Given the description of an element on the screen output the (x, y) to click on. 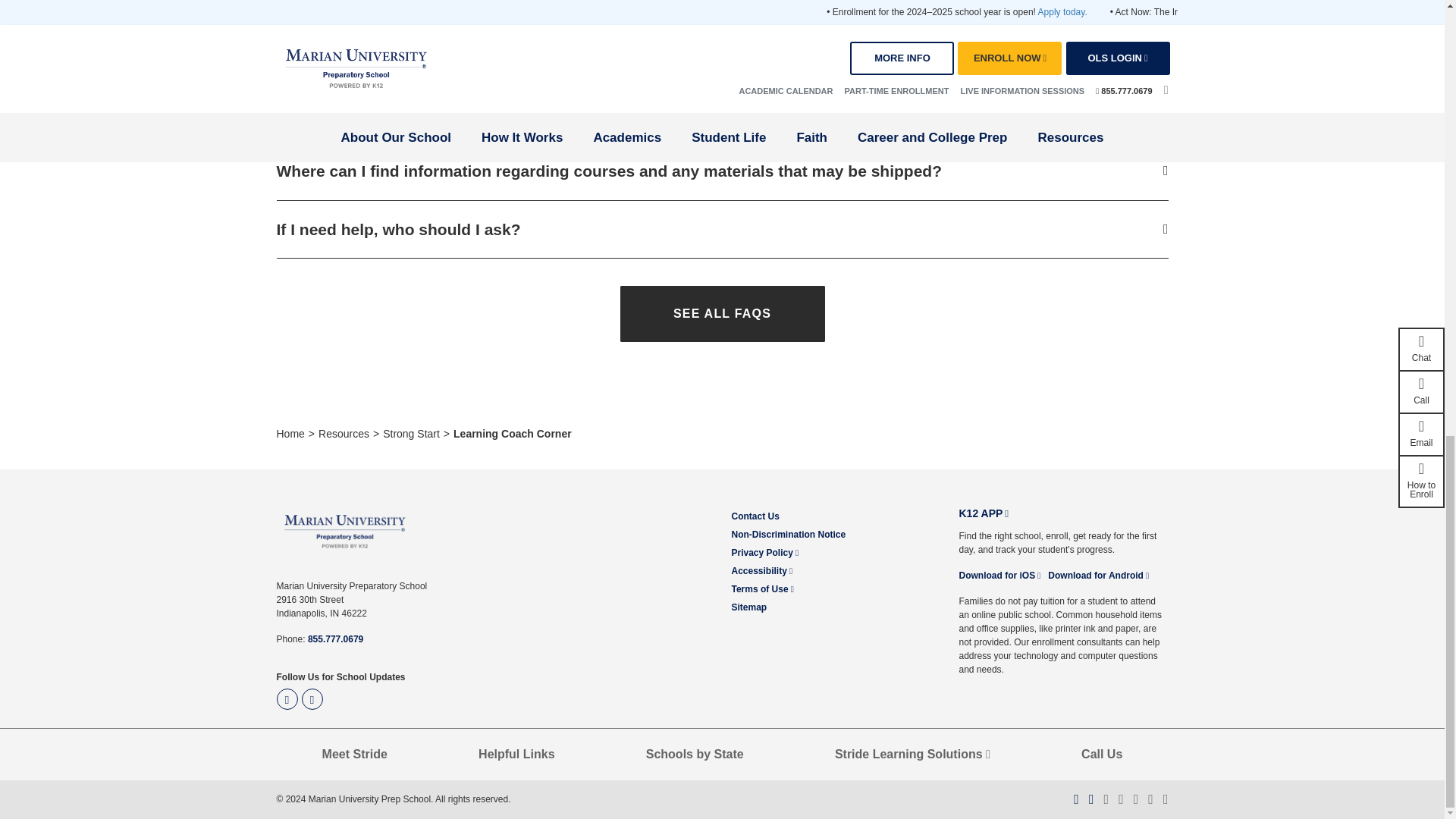
SEE ALL FAQS (722, 313)
Home (290, 433)
Strong Start (410, 433)
Resources (343, 433)
